Given the description of an element on the screen output the (x, y) to click on. 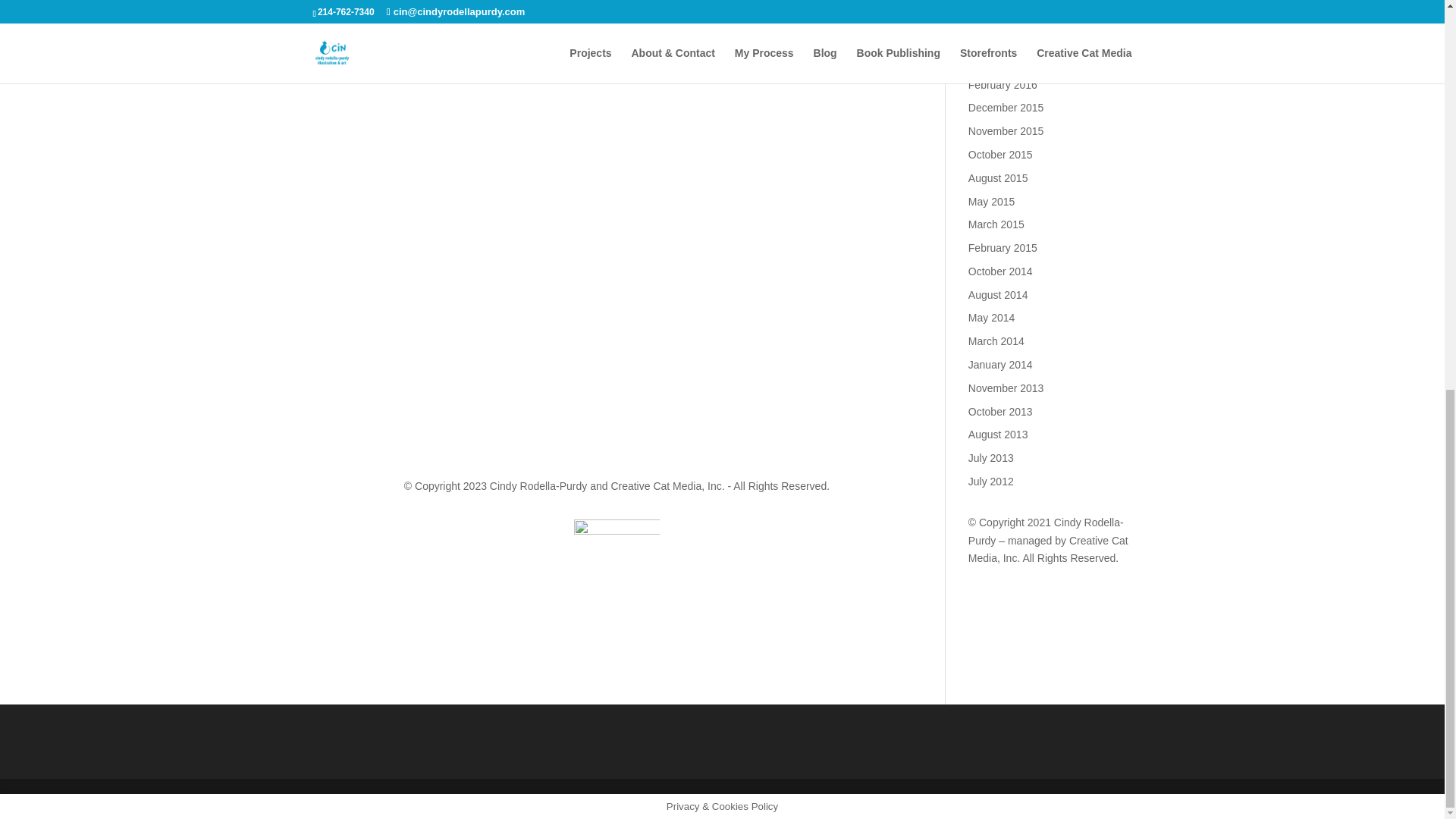
It-Takes-A-Village-profile-web (742, 137)
CiN-Village-Bird-72dpi (492, 4)
cindyrodellapurdy (616, 562)
Follow on tumblr (591, 434)
Follow on Facebook (560, 434)
Follow on Pinterest (681, 434)
Follow on Instagram (621, 434)
Follow on LinkedIn (651, 434)
